Given the description of an element on the screen output the (x, y) to click on. 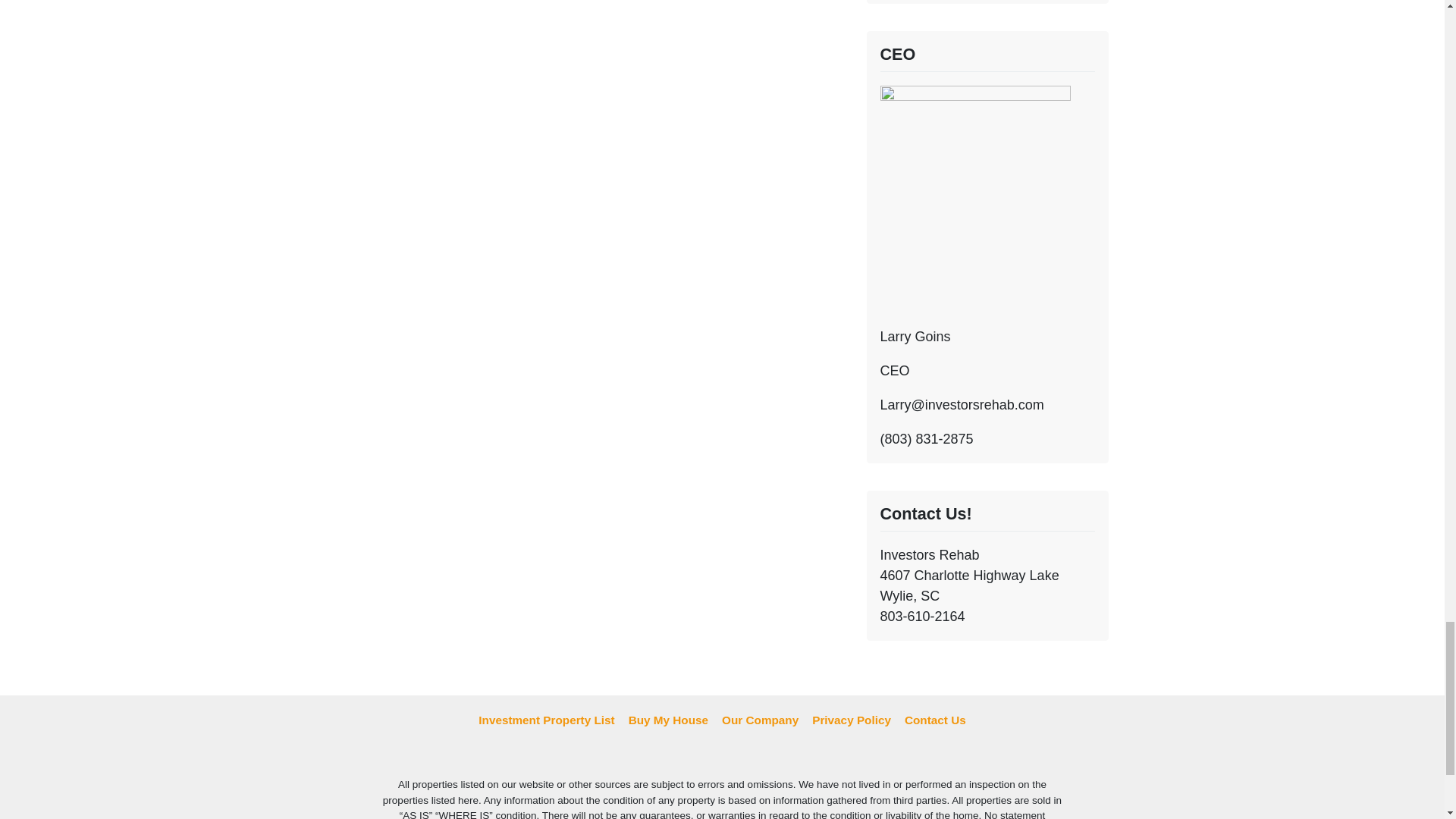
Our Company (759, 720)
Buy My House (667, 720)
Investment Property List (546, 720)
Contact Us (935, 720)
Facebook (721, 754)
Privacy Policy (851, 720)
